Given the description of an element on the screen output the (x, y) to click on. 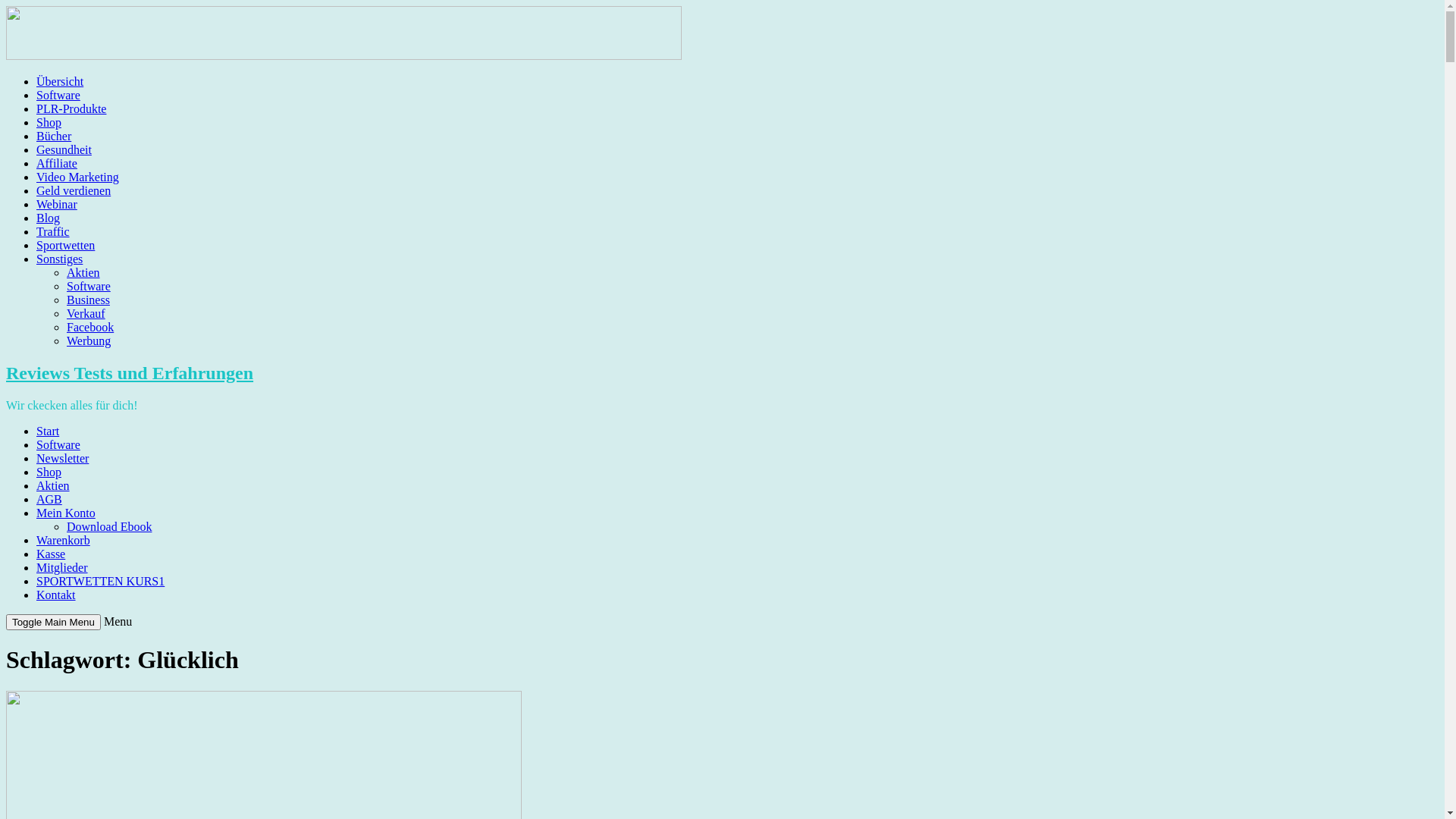
Video Marketing Element type: text (77, 176)
Warenkorb Element type: text (63, 539)
Werbung Element type: text (88, 340)
Skip to content Element type: text (5, 5)
Mein Konto Element type: text (65, 512)
Facebook Element type: text (89, 326)
Software Element type: text (88, 285)
Toggle Main Menu Element type: text (53, 622)
Shop Element type: text (48, 122)
Aktien Element type: text (52, 485)
Kasse Element type: text (50, 553)
Blog Element type: text (47, 217)
Affiliate Element type: text (56, 162)
Business Element type: text (87, 299)
Webinar Element type: text (56, 203)
Traffic Element type: text (52, 231)
Shop Element type: text (48, 471)
Sonstiges Element type: text (59, 258)
AGB Element type: text (49, 498)
Gesundheit Element type: text (63, 149)
Reviews Tests und Erfahrungen Element type: text (129, 372)
Sportwetten Element type: text (65, 244)
PLR-Produkte Element type: text (71, 108)
Software Element type: text (58, 444)
Download Ebook Element type: text (108, 526)
Aktien Element type: text (83, 272)
Newsletter Element type: text (62, 457)
Start Element type: text (47, 430)
Geld verdienen Element type: text (73, 190)
Mitglieder Element type: text (61, 567)
Software Element type: text (58, 94)
SPORTWETTEN KURS1 Element type: text (100, 580)
Kontakt Element type: text (55, 594)
Verkauf Element type: text (85, 313)
